Given the description of an element on the screen output the (x, y) to click on. 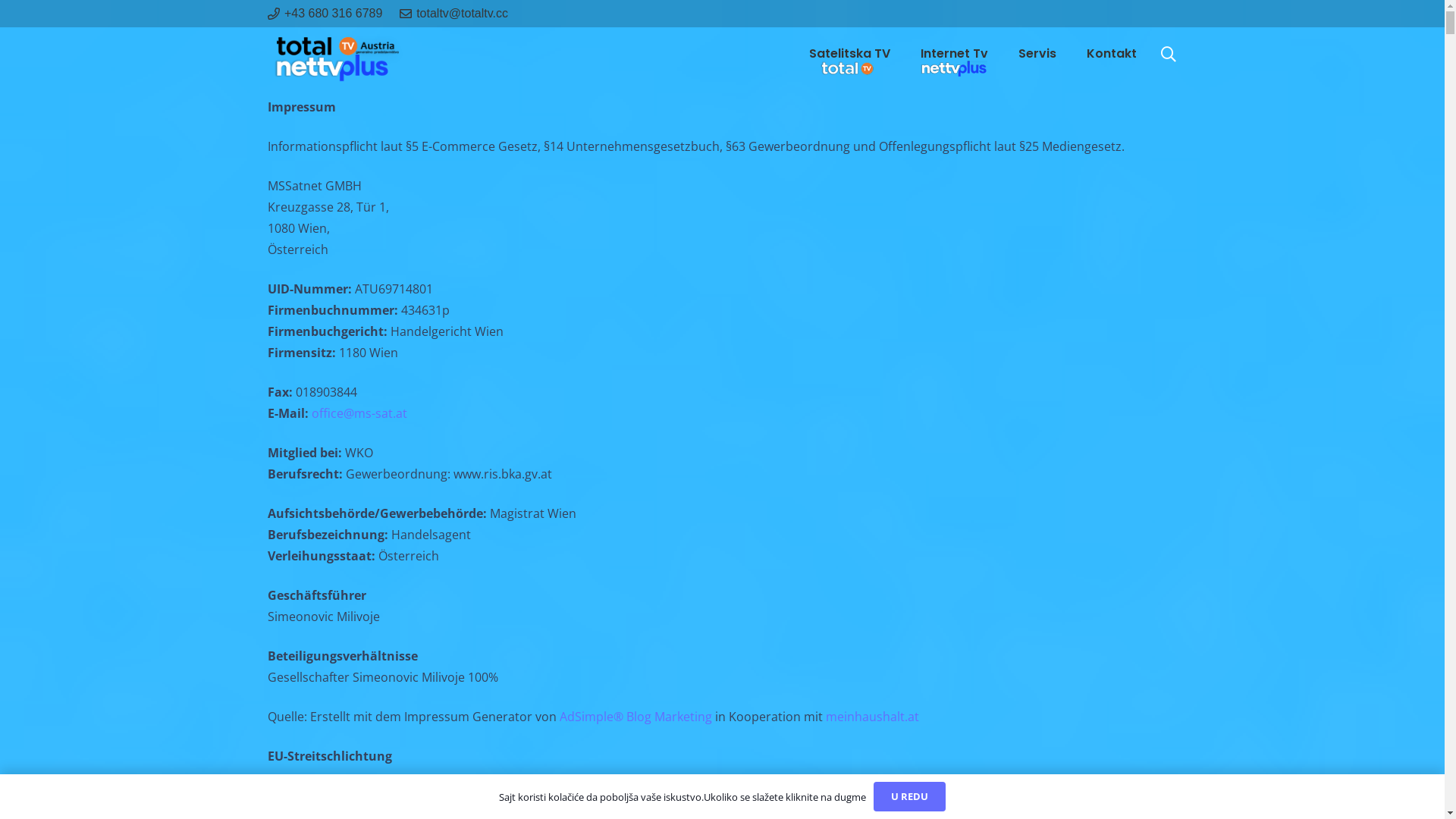
Satelitska TV Element type: text (848, 53)
Facebook Element type: hover (1007, 693)
Kontakt Element type: text (1154, 776)
totaltv@totaltv.cc Element type: text (1068, 605)
Kontakt Element type: text (1110, 53)
Politika privatnosti Element type: text (561, 586)
Uredjaji Element type: text (769, 610)
HD oprema Element type: text (780, 586)
O usluzi Element type: text (770, 563)
U REDU Element type: text (909, 796)
Ponuda paketa Element type: text (309, 563)
meinhaushalt.at Element type: text (871, 716)
Servis Element type: text (1036, 53)
office@ms-sat.at Element type: text (358, 412)
Internet Tv Element type: text (954, 53)
